Given the description of an element on the screen output the (x, y) to click on. 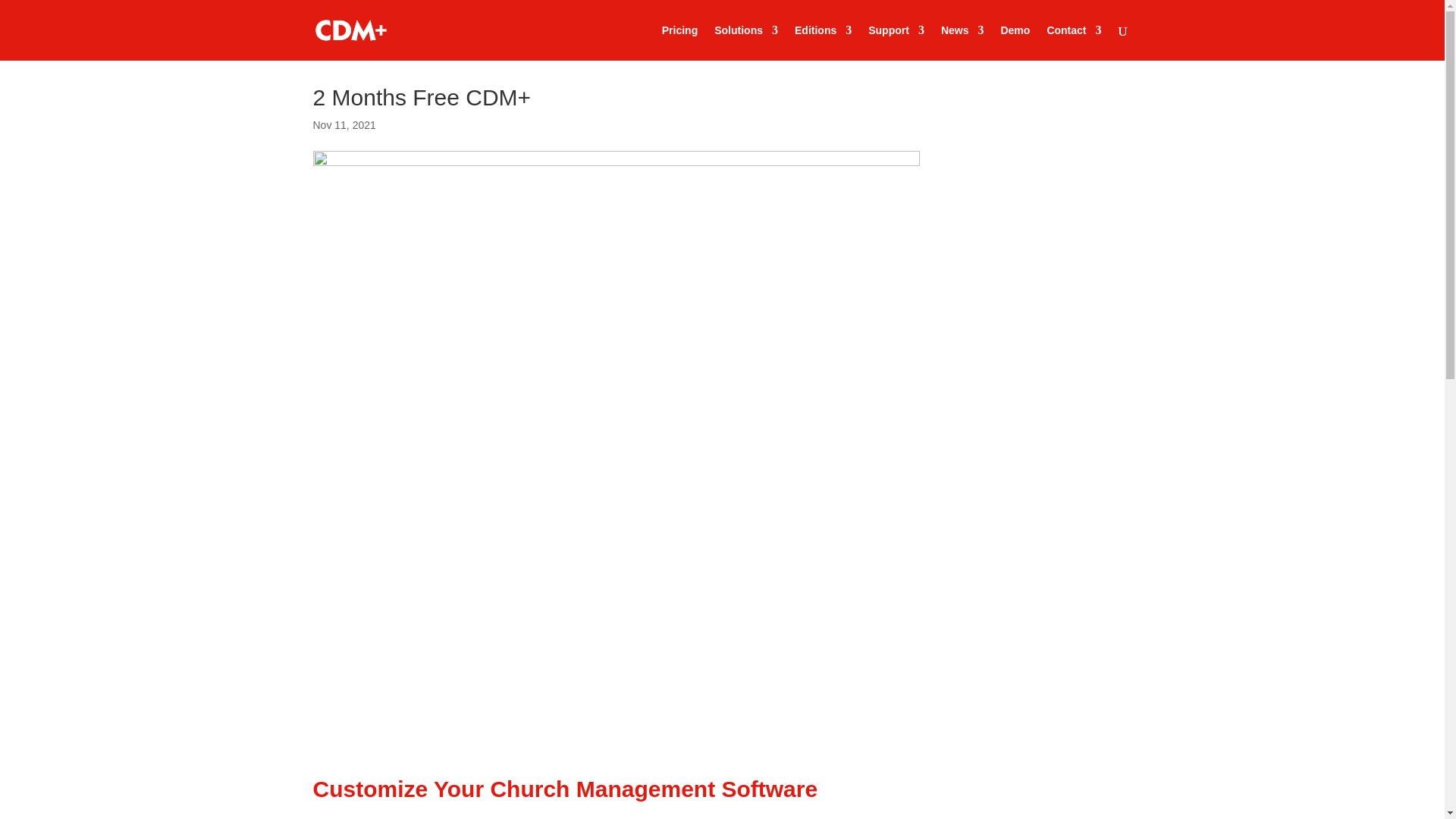
Editions (822, 42)
Solutions (745, 42)
Pricing (679, 42)
Support (895, 42)
